Given the description of an element on the screen output the (x, y) to click on. 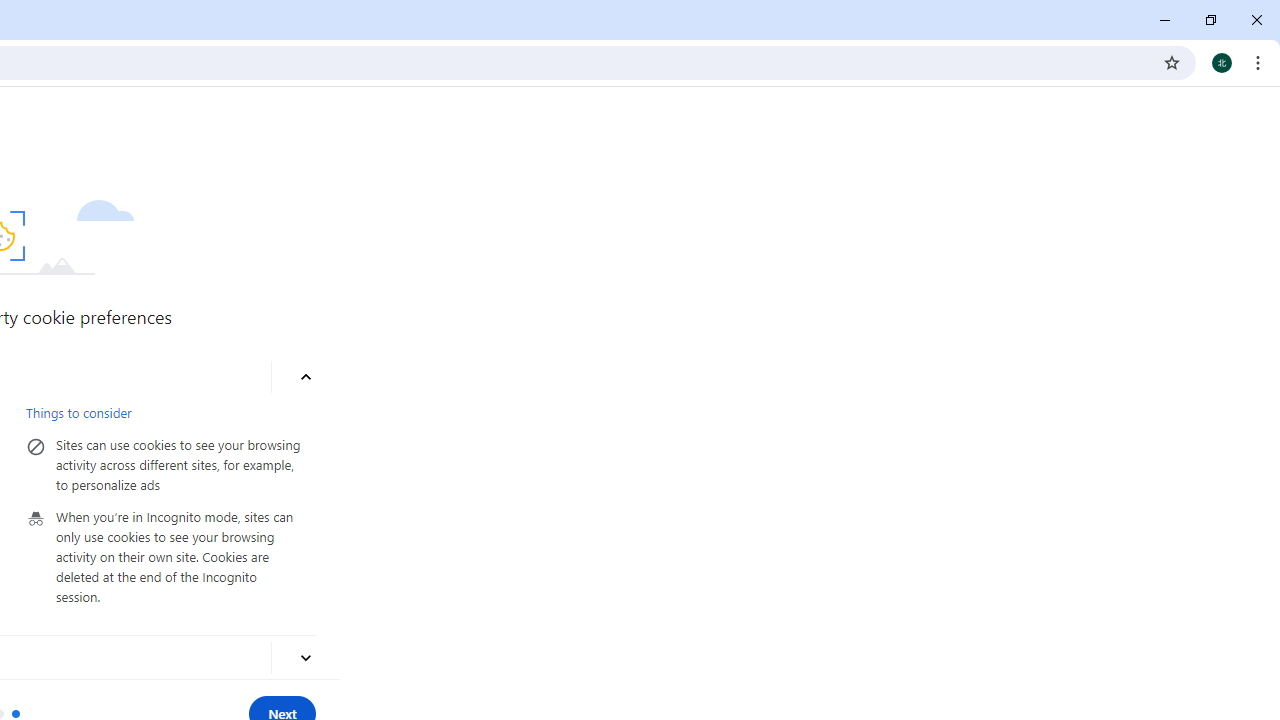
More about blocking third-party cookies (305, 658)
More about blocking third-party cookies in Incognito mode (305, 377)
